Given the description of an element on the screen output the (x, y) to click on. 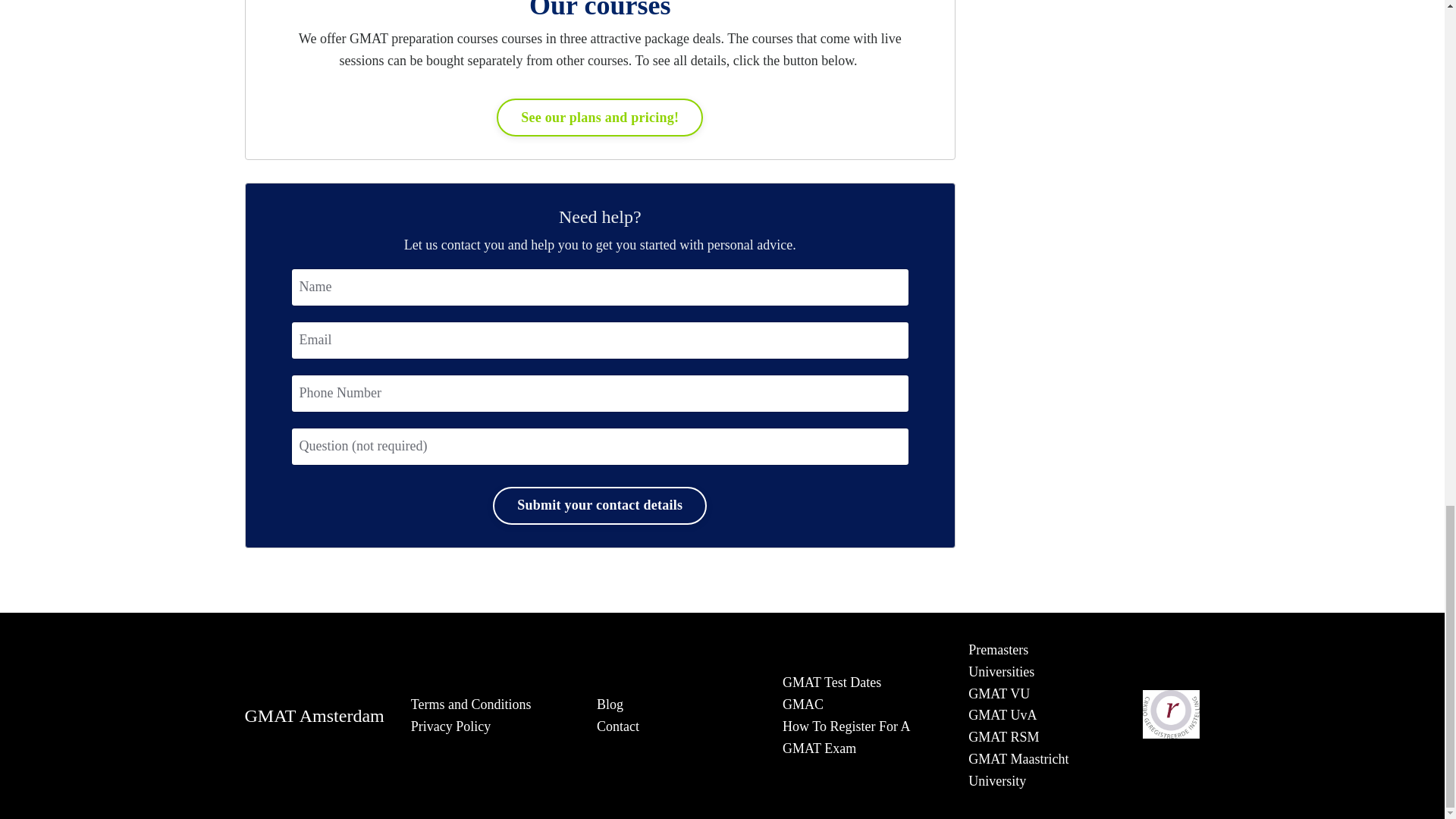
See our plans and pricing! (599, 117)
Submit your contact details (599, 505)
Submit your contact details (599, 505)
